Given the description of an element on the screen output the (x, y) to click on. 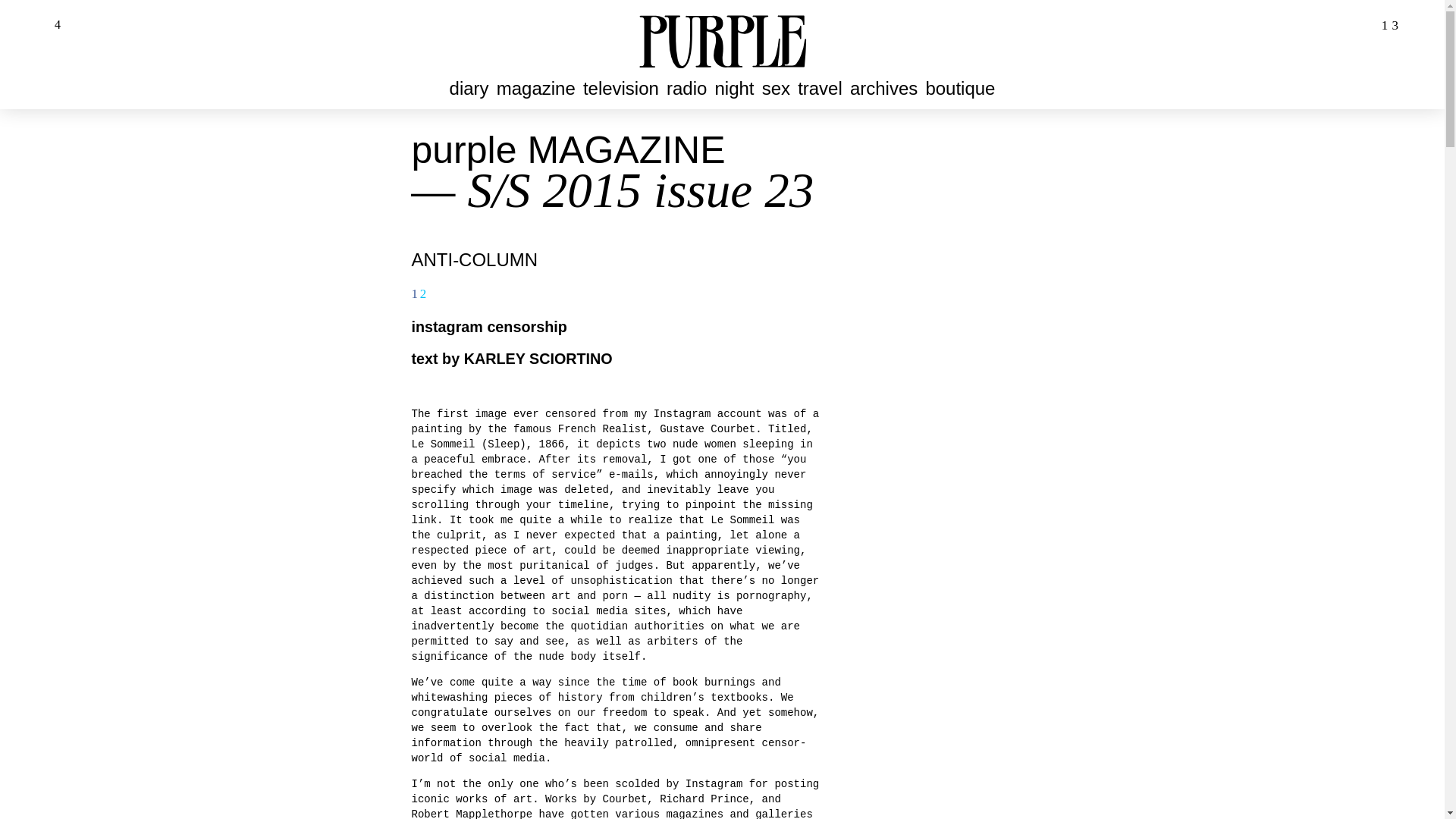
television (619, 87)
diary (468, 87)
PURPLE (721, 39)
night (734, 87)
archives (883, 87)
radio (686, 87)
sex (776, 87)
travel (819, 87)
magazine (535, 87)
boutique (960, 87)
